Given the description of an element on the screen output the (x, y) to click on. 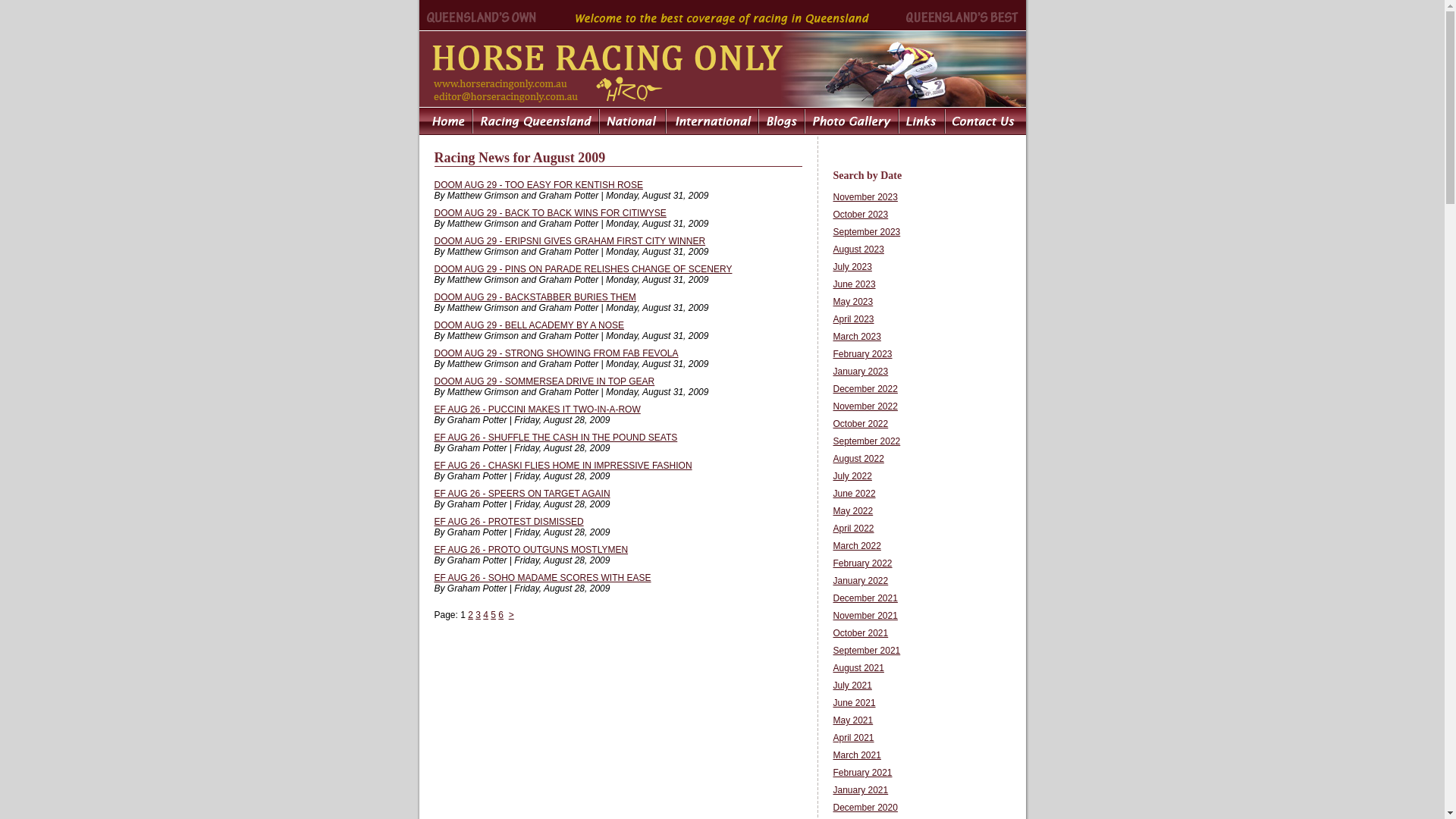
September 2021 Element type: text (866, 650)
October 2023 Element type: text (860, 214)
November 2023 Element type: text (864, 196)
EF AUG 26 - SPEERS ON TARGET AGAIN Element type: text (521, 493)
DOOM AUG 29 - PINS ON PARADE RELISHES CHANGE OF SCENERY Element type: text (582, 268)
July 2021 Element type: text (851, 685)
EF AUG 26 - PUCCINI MAKES IT TWO-IN-A-ROW Element type: text (536, 409)
March 2022 Element type: text (856, 545)
EF AUG 26 - PROTEST DISMISSED Element type: text (508, 521)
October 2022 Element type: text (860, 423)
EF AUG 26 - SHUFFLE THE CASH IN THE POUND SEATS Element type: text (555, 437)
August 2021 Element type: text (857, 667)
EF AUG 26 - SOHO MADAME SCORES WITH EASE Element type: text (541, 577)
June 2022 Element type: text (853, 493)
January 2023 Element type: text (860, 371)
4 Element type: text (485, 614)
January 2021 Element type: text (860, 789)
October 2021 Element type: text (860, 632)
March 2023 Element type: text (856, 336)
2 Element type: text (470, 614)
April 2022 Element type: text (852, 528)
June 2023 Element type: text (853, 284)
February 2022 Element type: text (861, 563)
July 2023 Element type: text (851, 266)
January 2022 Element type: text (860, 580)
August 2022 Element type: text (857, 458)
DOOM AUG 29 - SOMMERSEA DRIVE IN TOP GEAR Element type: text (543, 381)
DOOM AUG 29 - ERIPSNI GIVES GRAHAM FIRST CITY WINNER Element type: text (569, 240)
DOOM AUG 29 - STRONG SHOWING FROM FAB FEVOLA Element type: text (555, 353)
December 2021 Element type: text (864, 598)
June 2021 Element type: text (853, 702)
EF AUG 26 - CHASKI FLIES HOME IN IMPRESSIVE FASHION Element type: text (562, 465)
EF AUG 26 - PROTO OUTGUNS MOSTLYMEN Element type: text (530, 549)
September 2023 Element type: text (866, 231)
DOOM AUG 29 - TOO EASY FOR KENTISH ROSE Element type: text (537, 184)
May 2021 Element type: text (852, 720)
August 2023 Element type: text (857, 249)
February 2023 Element type: text (861, 353)
November 2022 Element type: text (864, 406)
3 Element type: text (477, 614)
May 2022 Element type: text (852, 510)
April 2021 Element type: text (852, 737)
March 2021 Element type: text (856, 754)
6 Element type: text (500, 614)
February 2021 Element type: text (861, 772)
5 Element type: text (492, 614)
September 2022 Element type: text (866, 441)
December 2022 Element type: text (864, 388)
May 2023 Element type: text (852, 301)
> Element type: text (511, 614)
July 2022 Element type: text (851, 475)
DOOM AUG 29 - BACK TO BACK WINS FOR CITIWYSE Element type: text (549, 212)
December 2020 Element type: text (864, 807)
DOOM AUG 29 - BELL ACADEMY BY A NOSE Element type: text (528, 325)
DOOM AUG 29 - BACKSTABBER BURIES THEM Element type: text (534, 296)
April 2023 Element type: text (852, 318)
November 2021 Element type: text (864, 615)
